Given the description of an element on the screen output the (x, y) to click on. 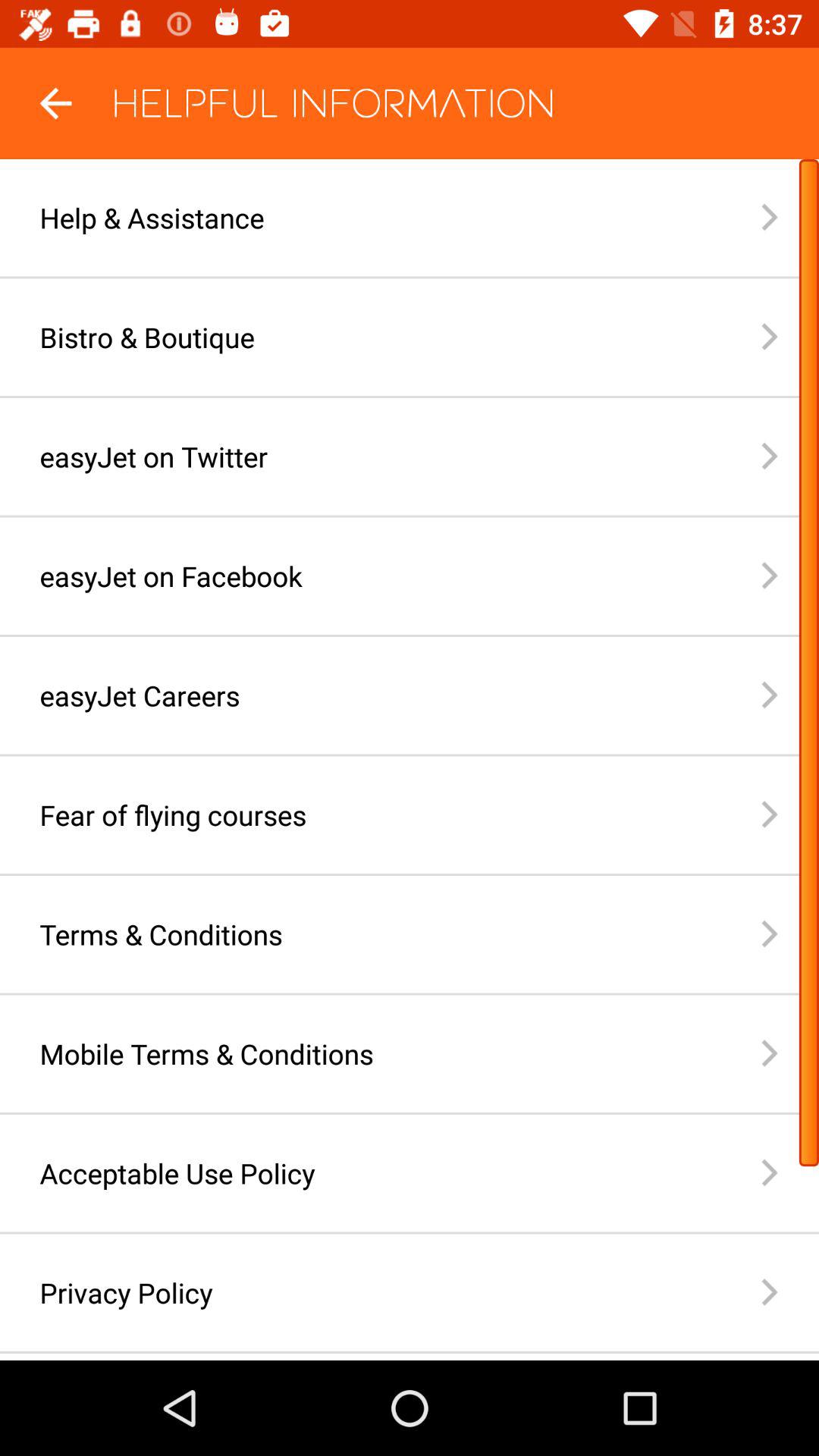
select the next button which is after bistro  boutique on the page (790, 336)
select the arrow button which is before easyjet careers on page (790, 695)
select the icon which is right to the text acceptable use policy (790, 1172)
click on the front arrow which is on the right side of easy jet on facebook (790, 575)
